Given the description of an element on the screen output the (x, y) to click on. 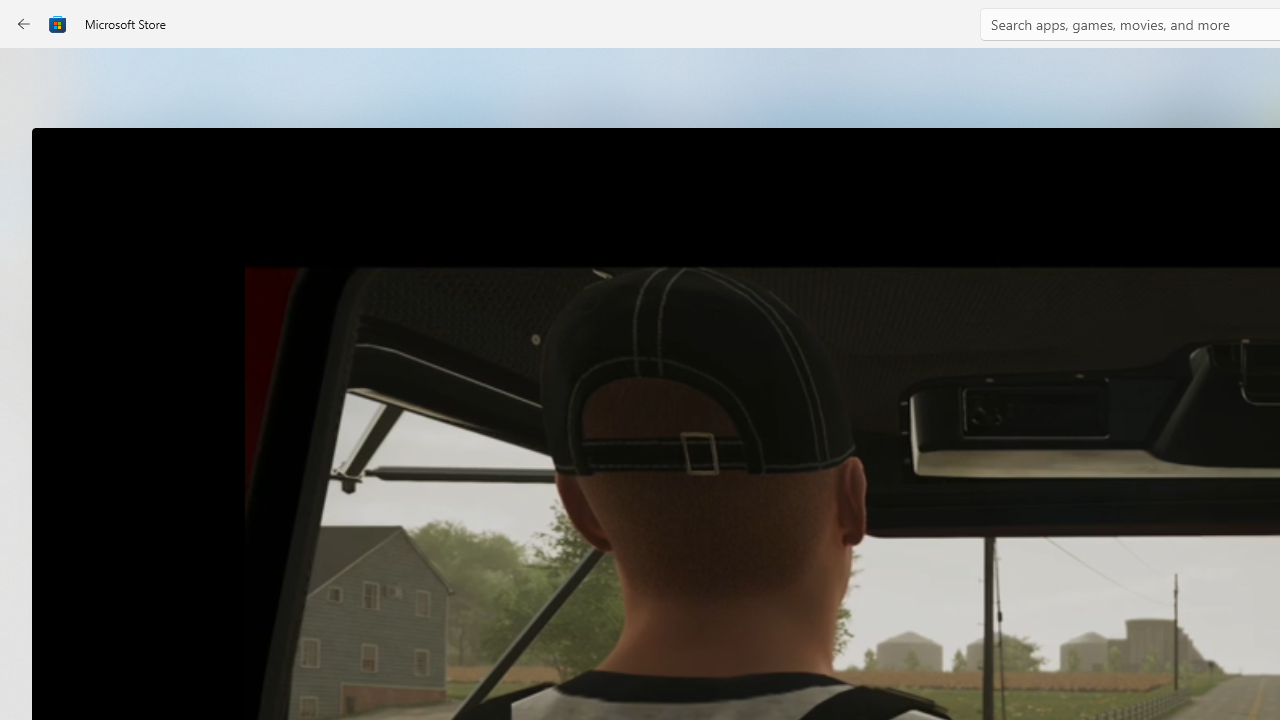
Back (24, 24)
Home (35, 79)
Arcade (35, 265)
Apps (35, 141)
AI Hub (35, 390)
Entertainment (35, 327)
Class: Image (58, 24)
Gaming (35, 203)
